Given the description of an element on the screen output the (x, y) to click on. 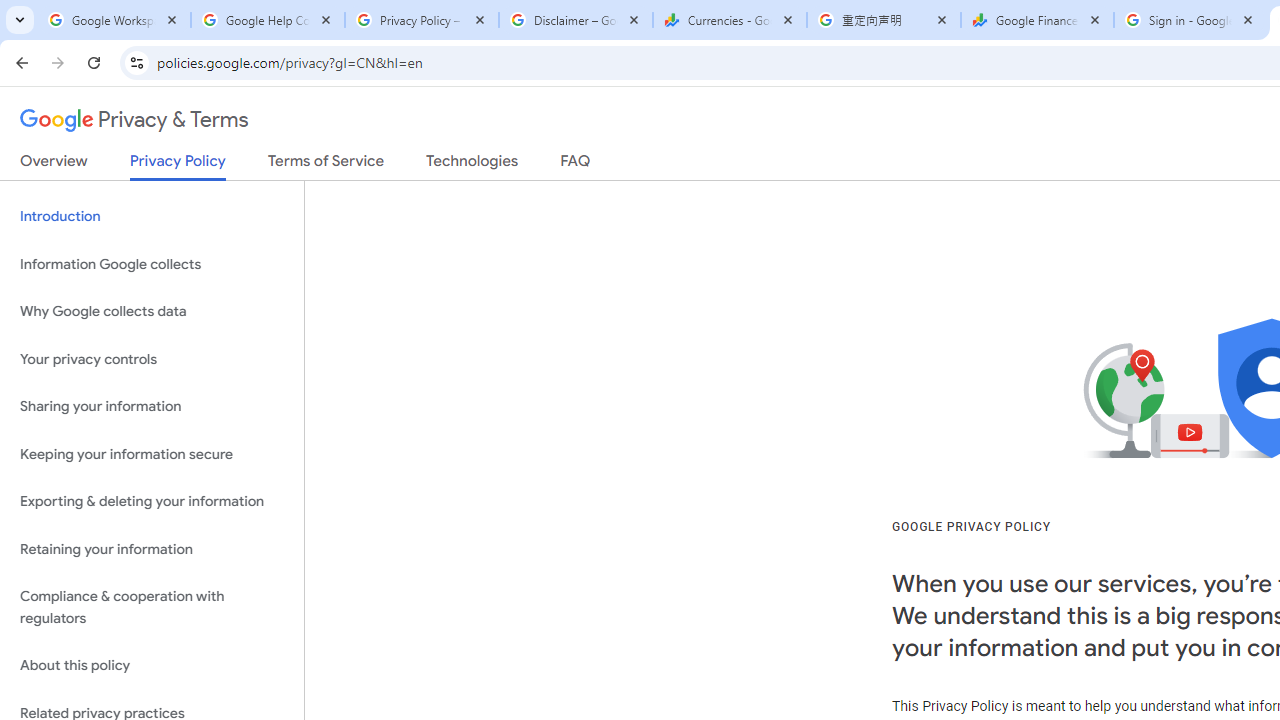
Google Workspace Admin Community (113, 20)
Introduction (152, 216)
Compliance & cooperation with regulators (152, 607)
Why Google collects data (152, 312)
Sharing your information (152, 407)
